Given the description of an element on the screen output the (x, y) to click on. 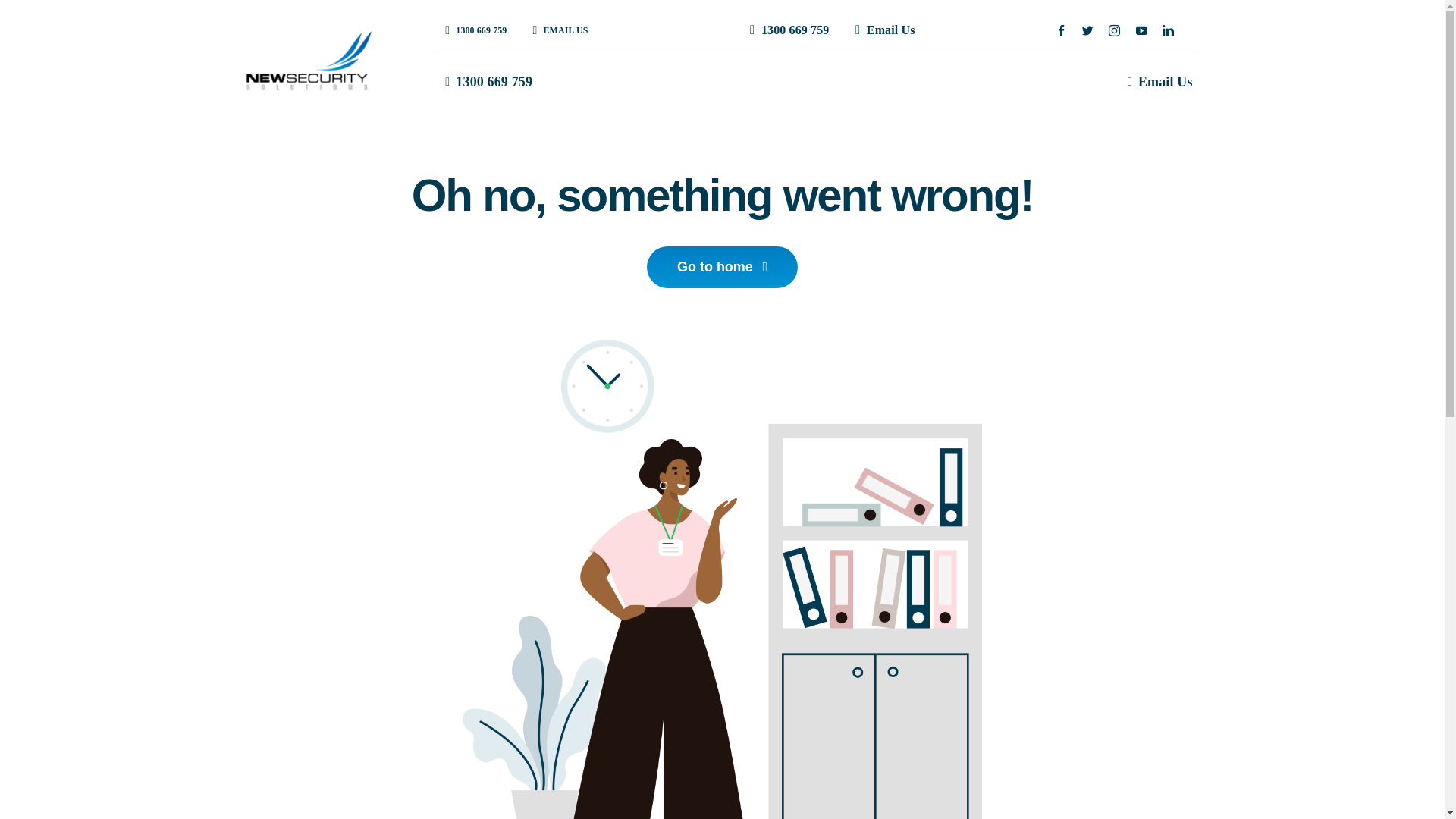
1300 669 759 Element type: text (786, 30)
1300 669 759 Element type: text (472, 29)
1300 669 759 Element type: text (485, 82)
Go to home Element type: text (721, 267)
Email Us Element type: text (1156, 82)
Email Us Element type: text (881, 30)
EMAIL US Element type: text (556, 29)
